Given the description of an element on the screen output the (x, y) to click on. 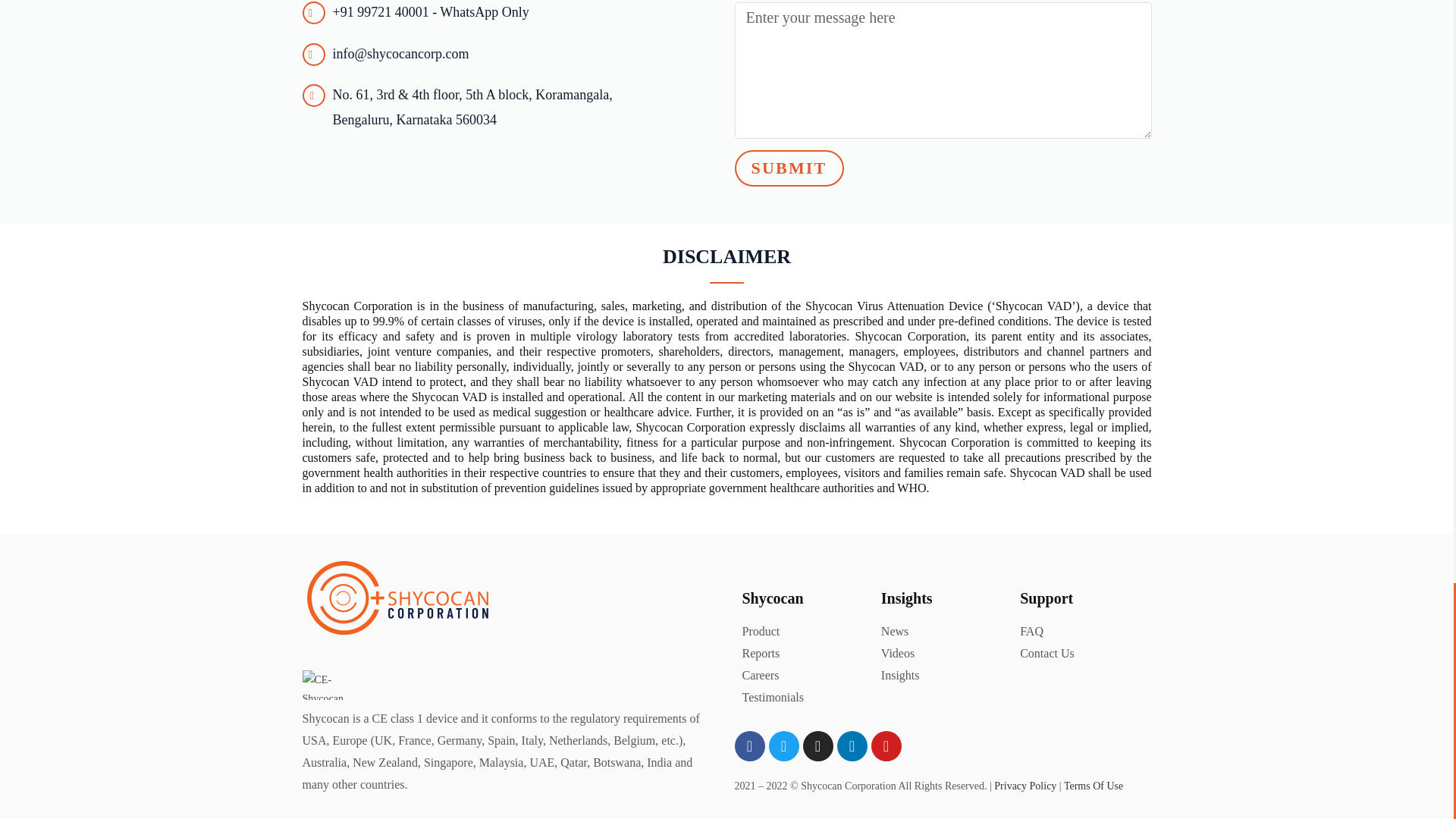
Careers (802, 676)
SUBMIT (788, 167)
News (942, 631)
Testimonials (802, 698)
Product (802, 631)
Reports (802, 653)
Insights (942, 676)
SHYCOCAN CORPORATION-LOGO (397, 597)
FAQ (1081, 631)
Contact Us (1081, 653)
